Given the description of an element on the screen output the (x, y) to click on. 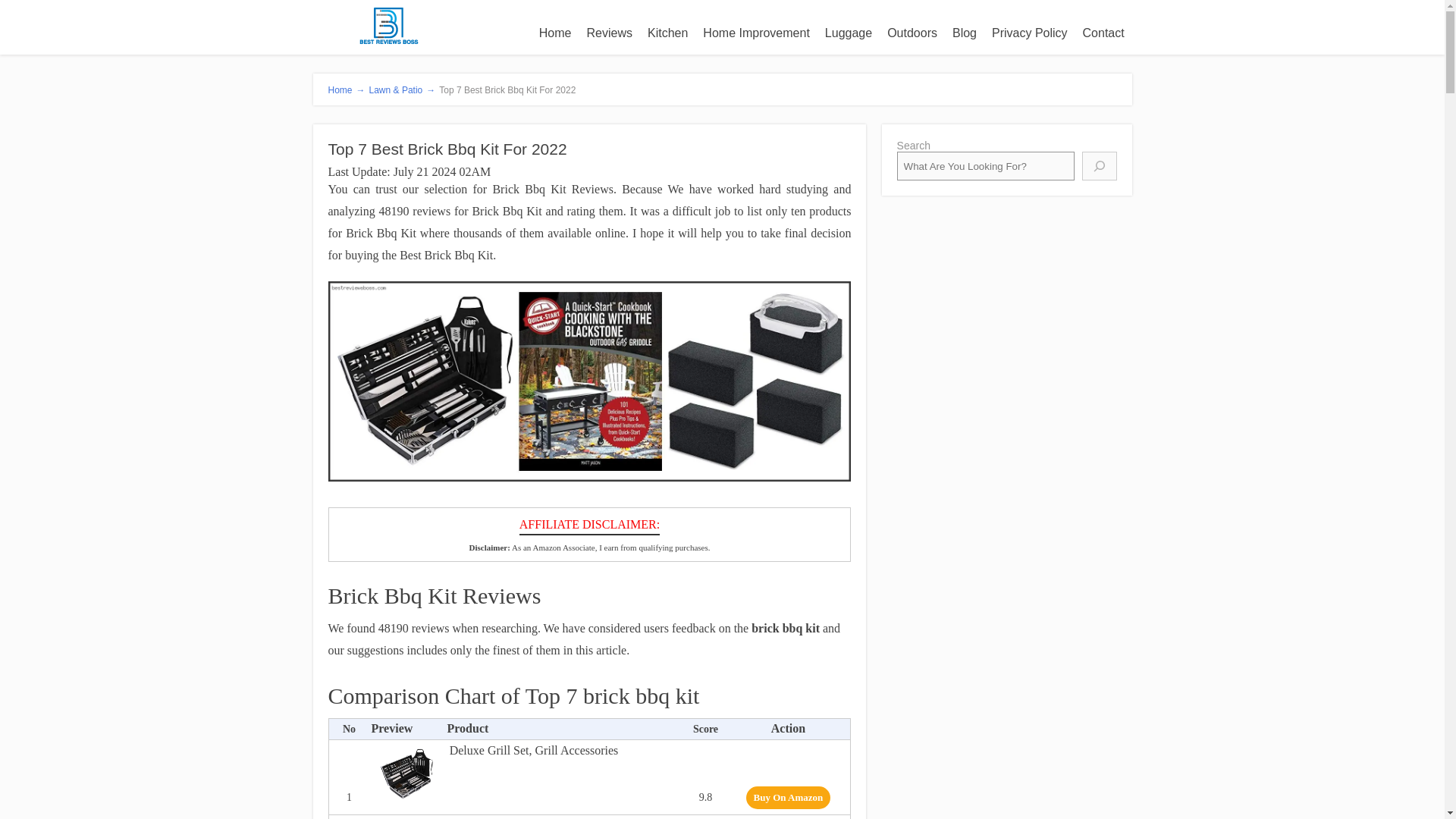
Blog (964, 32)
Buy On Amazon (788, 797)
Contact (1103, 32)
Kitchen (667, 32)
Deluxe Grill Set, Grill Accessories (406, 773)
Home Improvement (755, 32)
Top 7 Best Brick Bbq Kit For 2022 (588, 381)
Luggage (847, 32)
Outdoors (911, 32)
Reviews (609, 32)
Privacy Policy (1029, 32)
Home (555, 32)
